Given the description of an element on the screen output the (x, y) to click on. 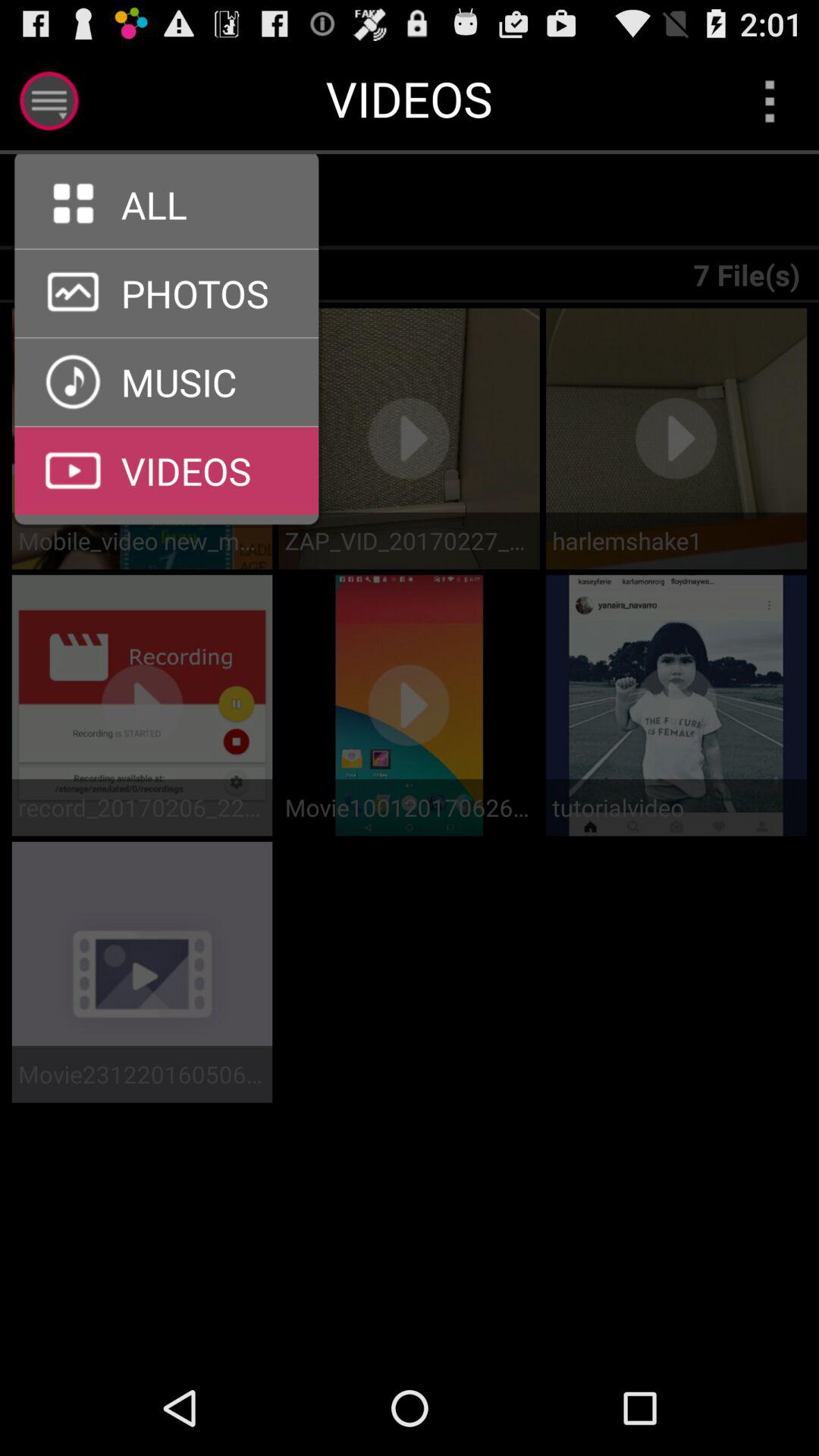
turn off the record_20170206_222152 item (141, 807)
